Given the description of an element on the screen output the (x, y) to click on. 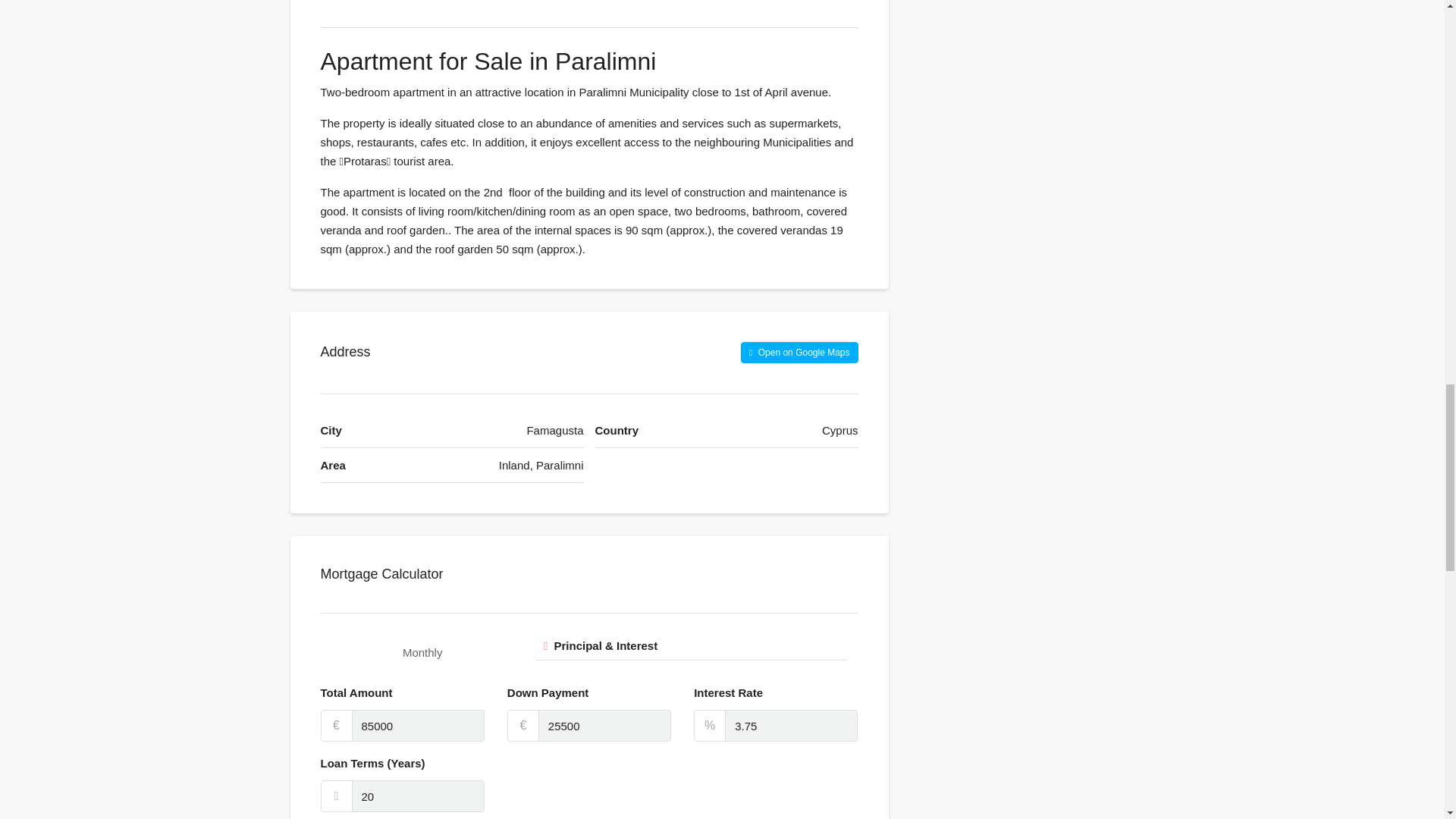
25500 (604, 726)
85000 (418, 726)
3.75 (791, 726)
20 (418, 796)
